Given the description of an element on the screen output the (x, y) to click on. 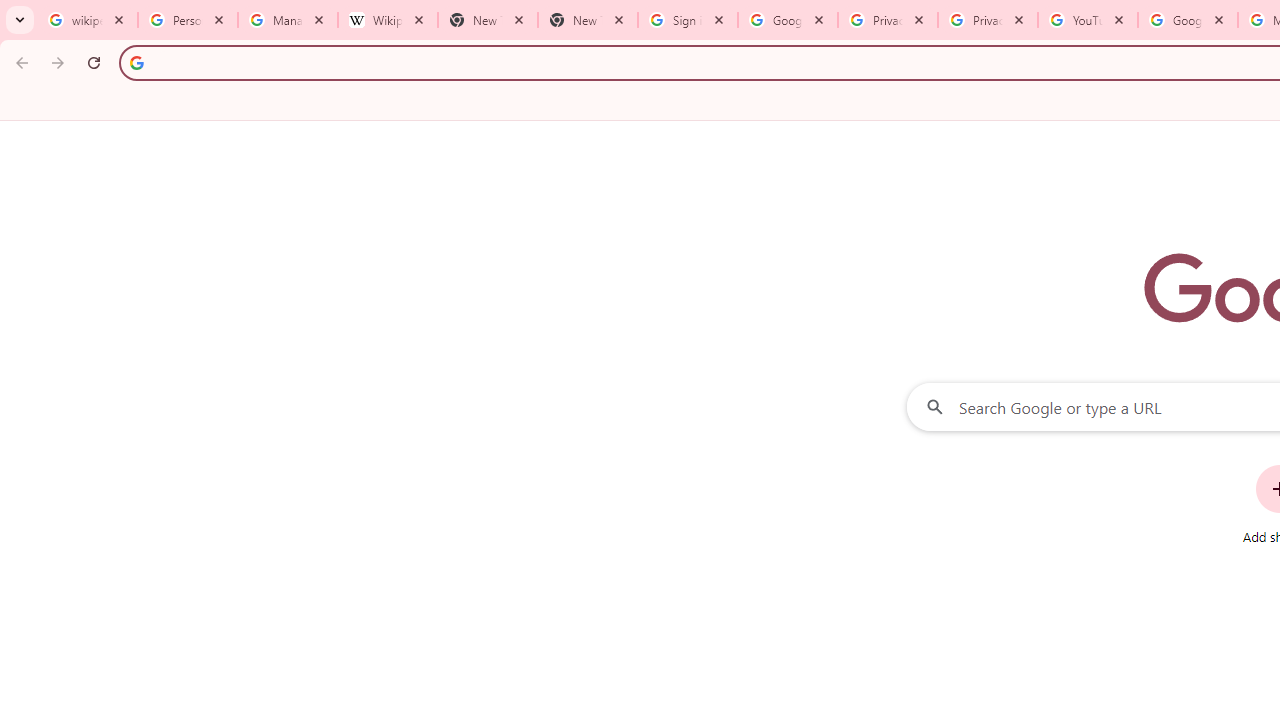
Personalization & Google Search results - Google Search Help (188, 20)
New Tab (587, 20)
